Given the description of an element on the screen output the (x, y) to click on. 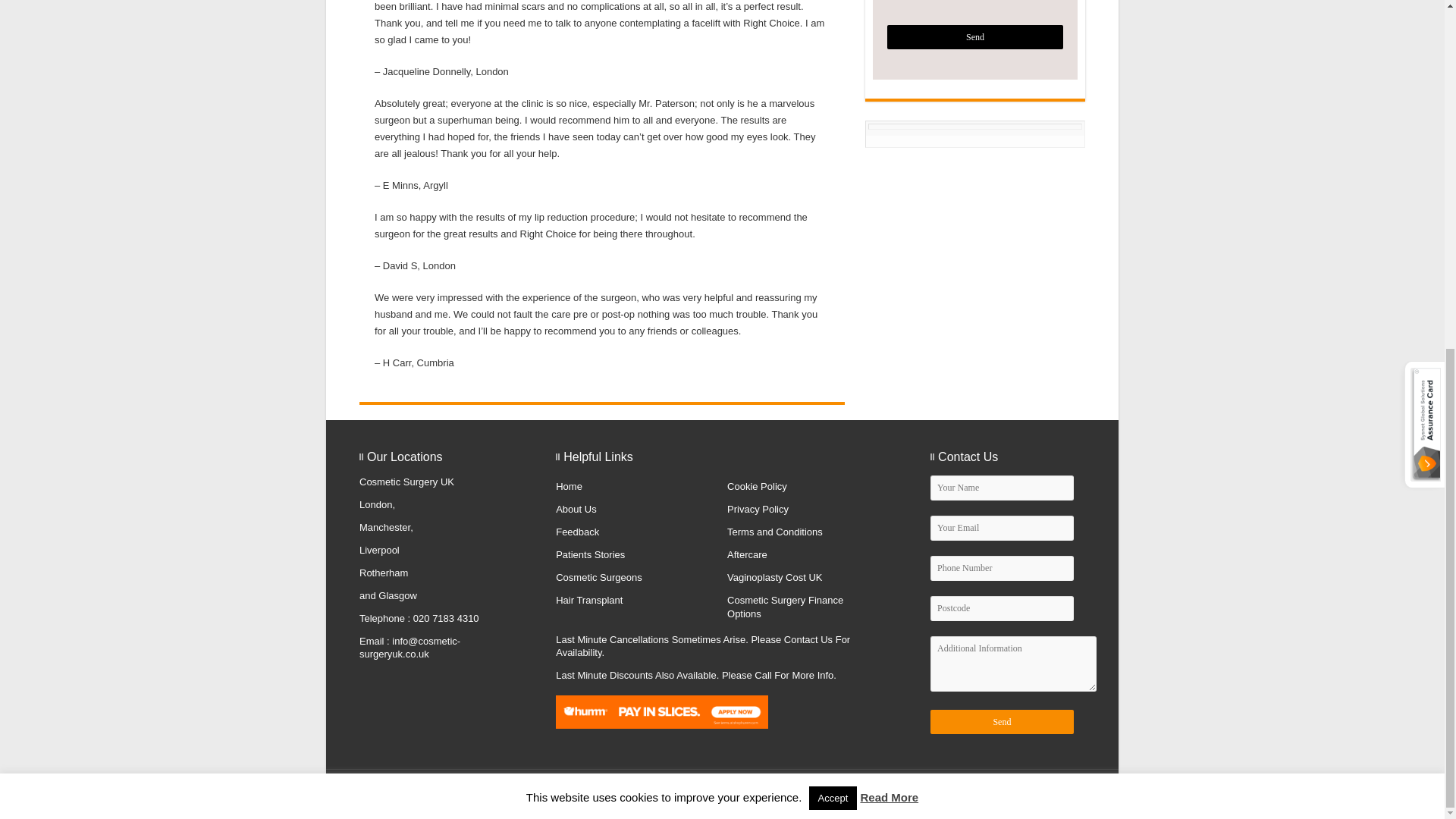
Home (569, 486)
Patients Stories (590, 554)
Send (1002, 721)
Send (974, 37)
Hair Transplant (589, 600)
About Us (575, 509)
Cosmetic Surgeons (599, 577)
Send (974, 37)
Feedback (577, 531)
